Given the description of an element on the screen output the (x, y) to click on. 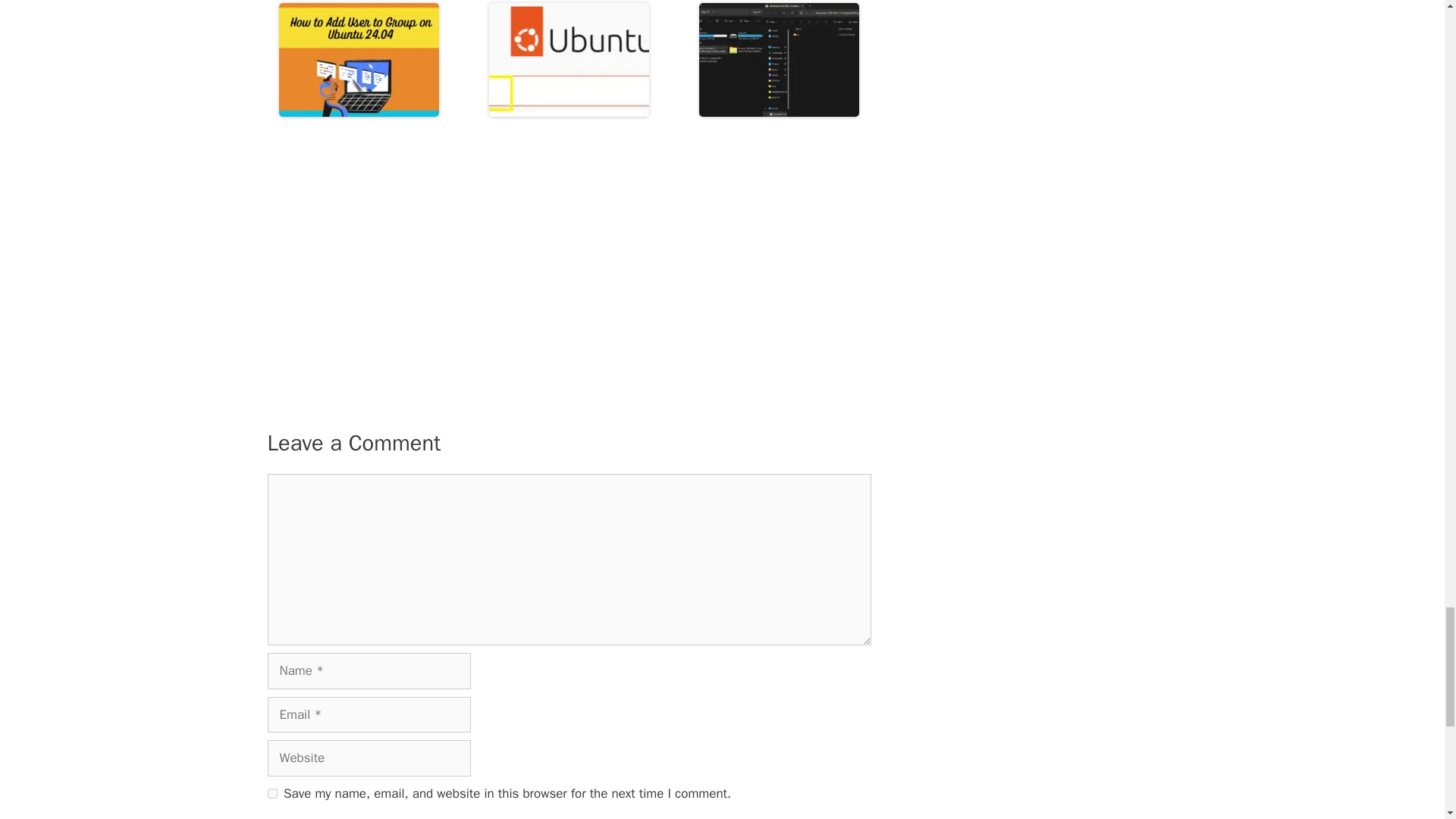
yes (271, 793)
